Given the description of an element on the screen output the (x, y) to click on. 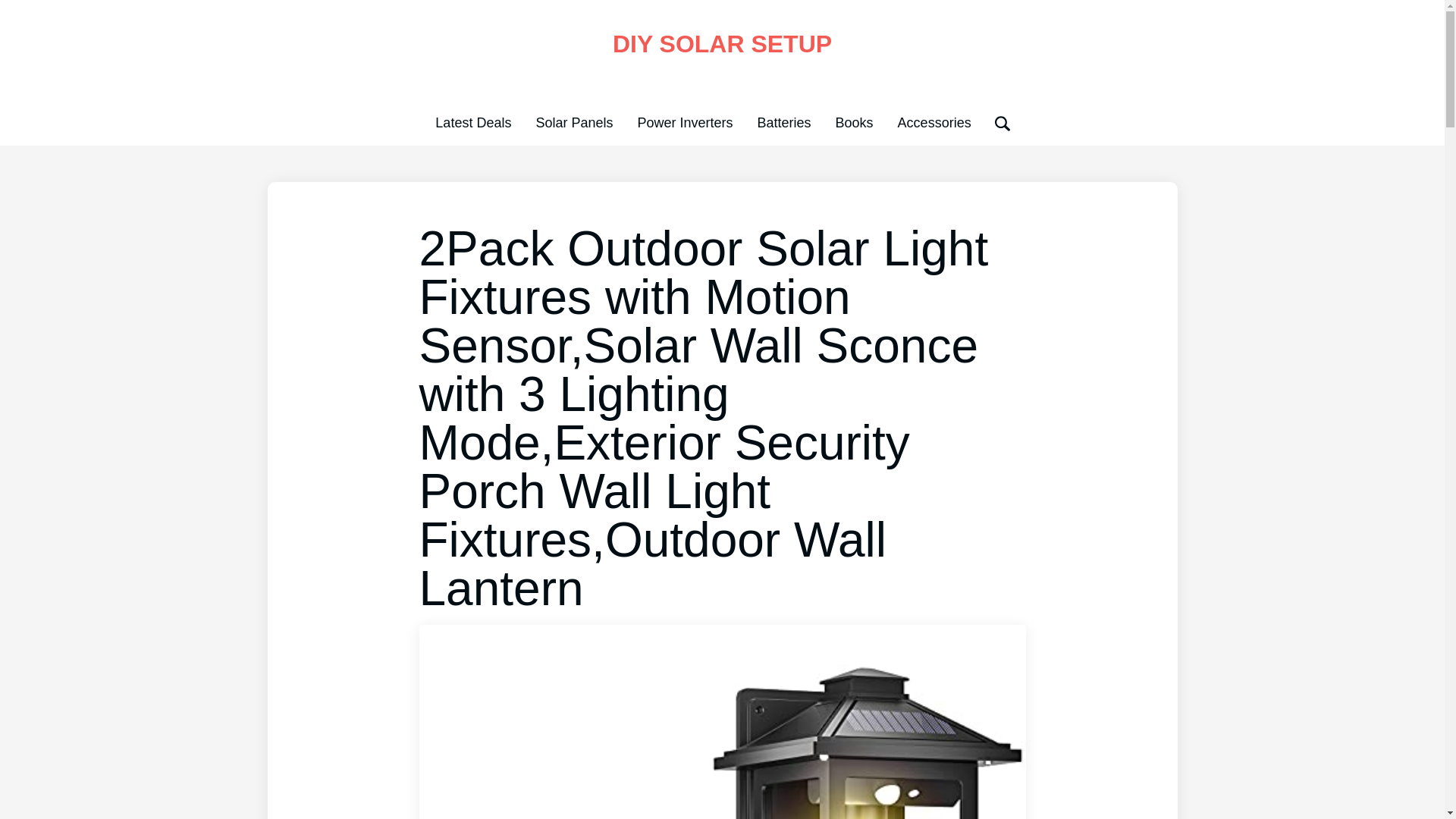
Batteries (783, 122)
Latest Deals (473, 122)
Books (854, 122)
DIY SOLAR SETUP (721, 43)
Solar Panels (573, 122)
Accessories (934, 122)
Power Inverters (684, 122)
